Given the description of an element on the screen output the (x, y) to click on. 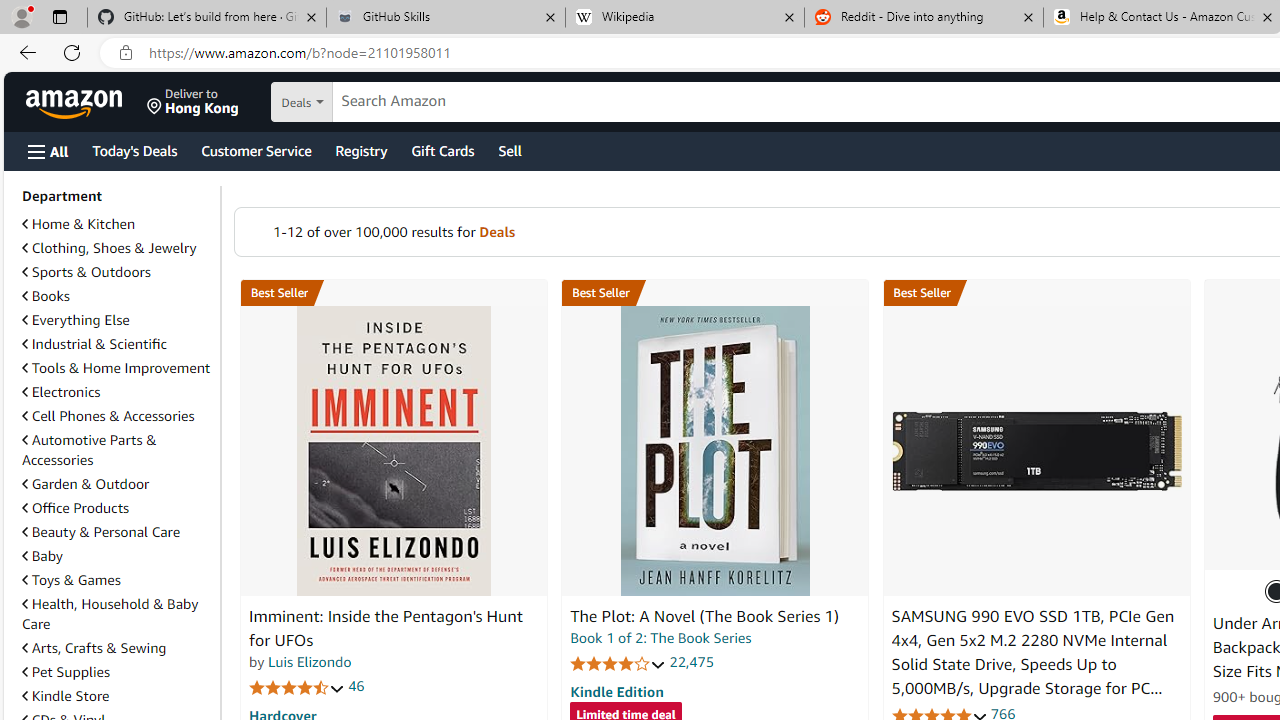
46 (356, 686)
Industrial & Scientific (117, 344)
Electronics (117, 391)
Home & Kitchen (78, 224)
Beauty & Personal Care (117, 532)
Electronics (61, 392)
Automotive Parts & Accessories (89, 449)
Amazon (76, 101)
Best Seller in Heist Thrillers (715, 293)
Registry (360, 150)
Everything Else (75, 320)
Clothing, Shoes & Jewelry (109, 248)
